Given the description of an element on the screen output the (x, y) to click on. 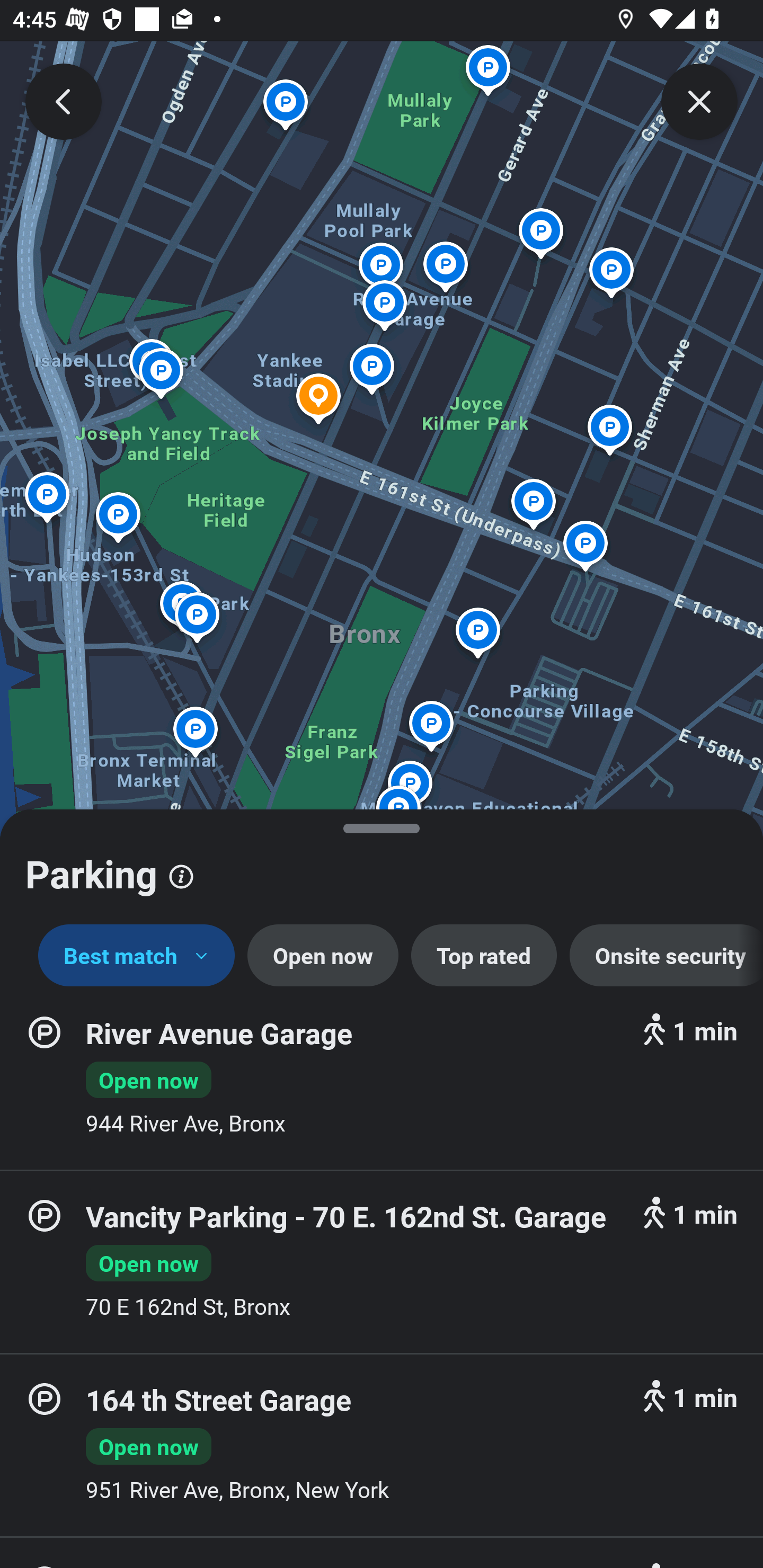
Parking (381, 867)
Best match (136, 955)
Open now (322, 955)
Top rated (483, 955)
Onsite security (666, 955)
